Given the description of an element on the screen output the (x, y) to click on. 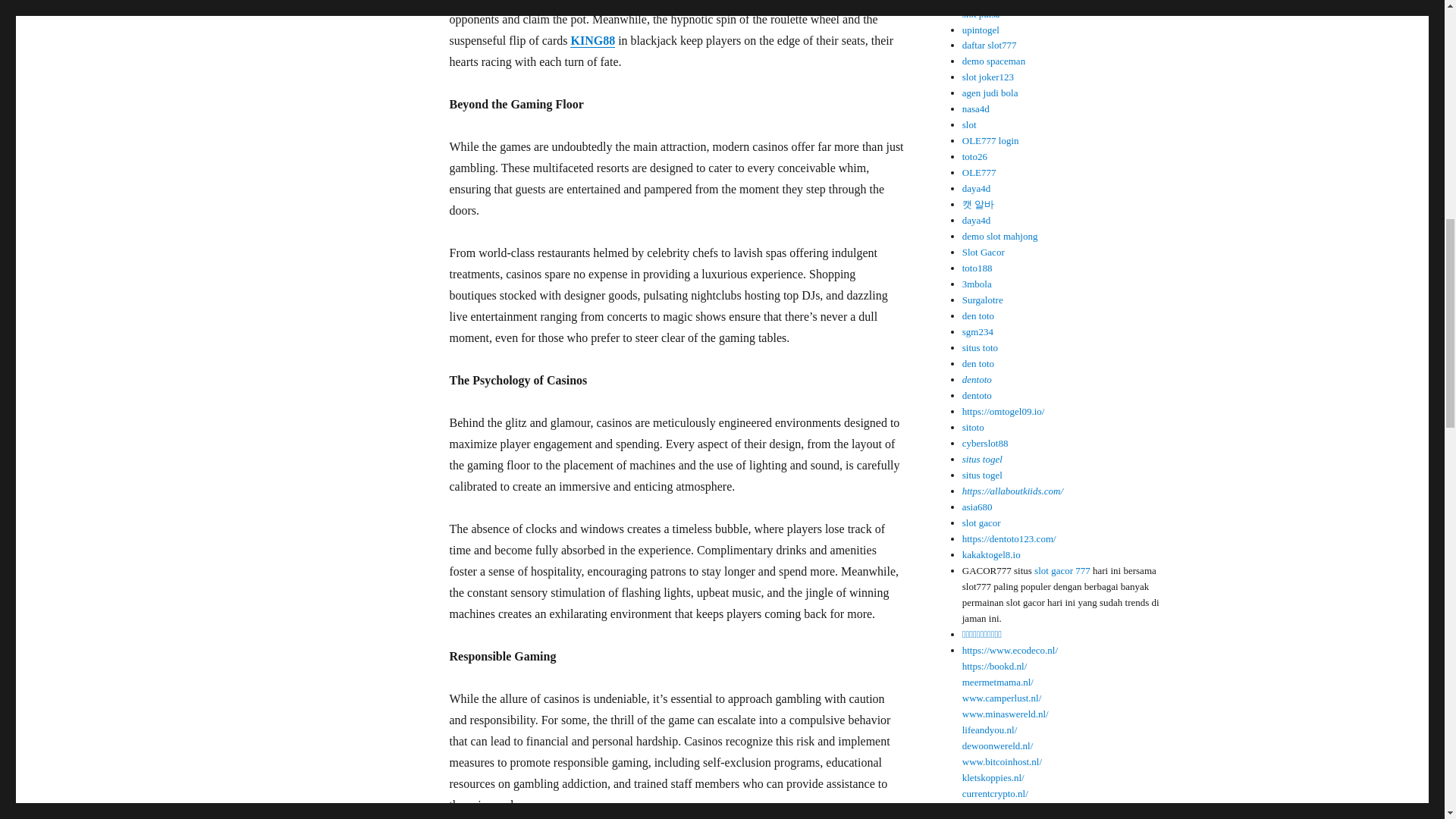
KING88 (592, 40)
slot pulsa (980, 13)
ugasli login (985, 2)
